Given the description of an element on the screen output the (x, y) to click on. 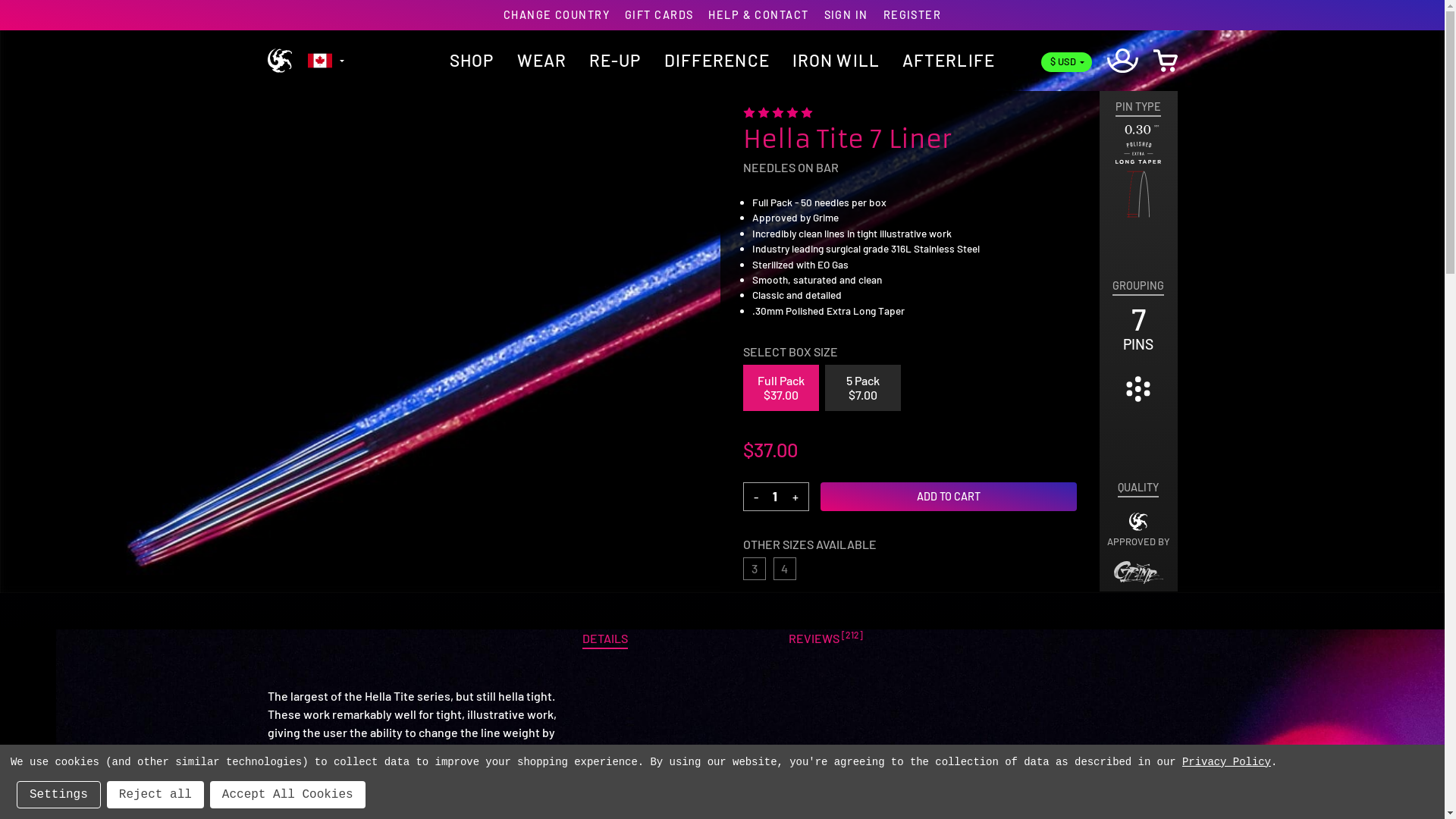
Privacy Policy Element type: text (1226, 762)
DIFFERENCE Element type: text (716, 59)
Reject all Element type: text (154, 794)
Accept All Cookies Element type: text (287, 794)
Add to Cart Element type: text (948, 496)
AFTERLIFE Element type: text (948, 59)
WEAR Element type: text (541, 59)
HELP & CONTACT Element type: text (758, 14)
REGISTER Element type: text (912, 14)
GIFT CARDS Element type: text (658, 14)
SHOP Element type: text (471, 59)
- Element type: text (755, 496)
RE-UP Element type: text (615, 59)
4 Element type: text (784, 568)
+ Element type: text (794, 496)
IRON WILL Element type: text (835, 59)
SIGN IN Element type: text (846, 14)
3 Element type: text (754, 568)
CHANGE COUNTRY Element type: text (556, 14)
Settings Element type: text (58, 794)
